Given the description of an element on the screen output the (x, y) to click on. 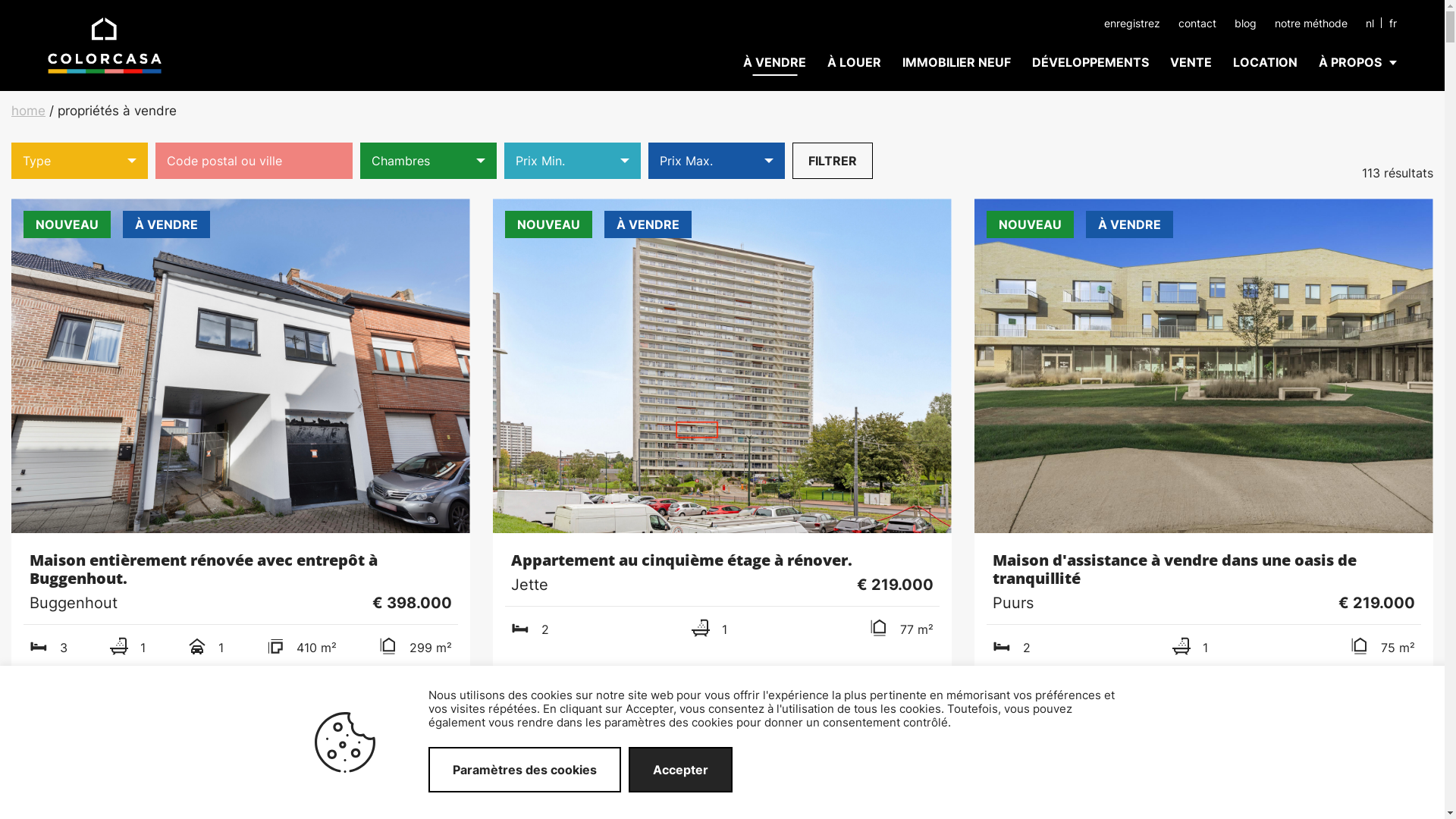
FILTRER Element type: text (832, 160)
Colorcasa Element type: hover (104, 44)
home Element type: text (28, 110)
VENTE Element type: text (1190, 61)
Home Element type: hover (104, 43)
enregistrez Element type: text (1132, 22)
IMMOBILIER NEUF Element type: text (956, 61)
Accepter Element type: text (680, 769)
nl Element type: text (1369, 22)
contact Element type: text (1197, 22)
blog Element type: text (1245, 22)
fr Element type: text (1392, 22)
LOCATION Element type: text (1264, 61)
